Given the description of an element on the screen output the (x, y) to click on. 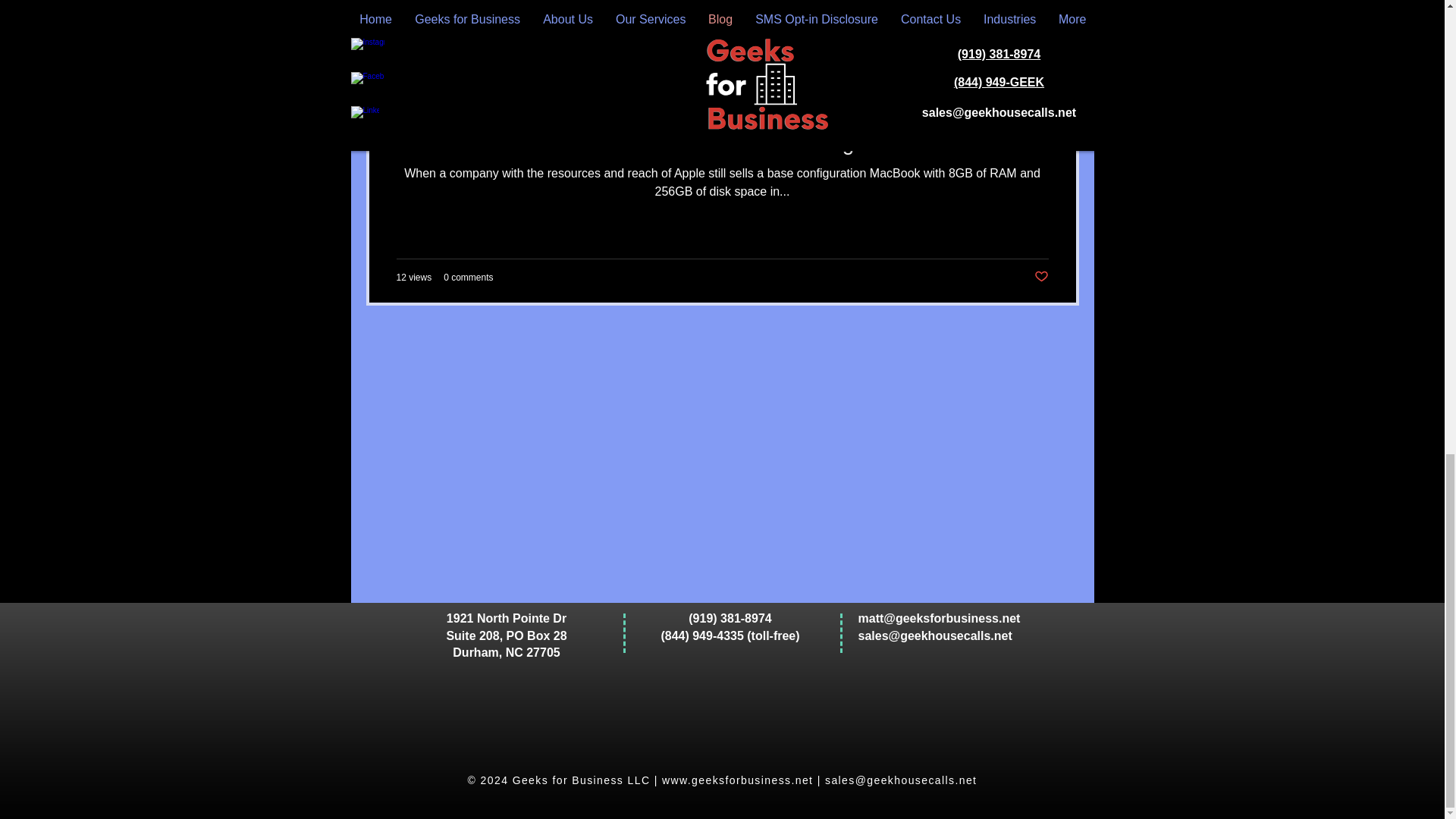
Matt Ferguson (714, 103)
5 min (754, 115)
Oct 10, 2023 (704, 115)
